Given the description of an element on the screen output the (x, y) to click on. 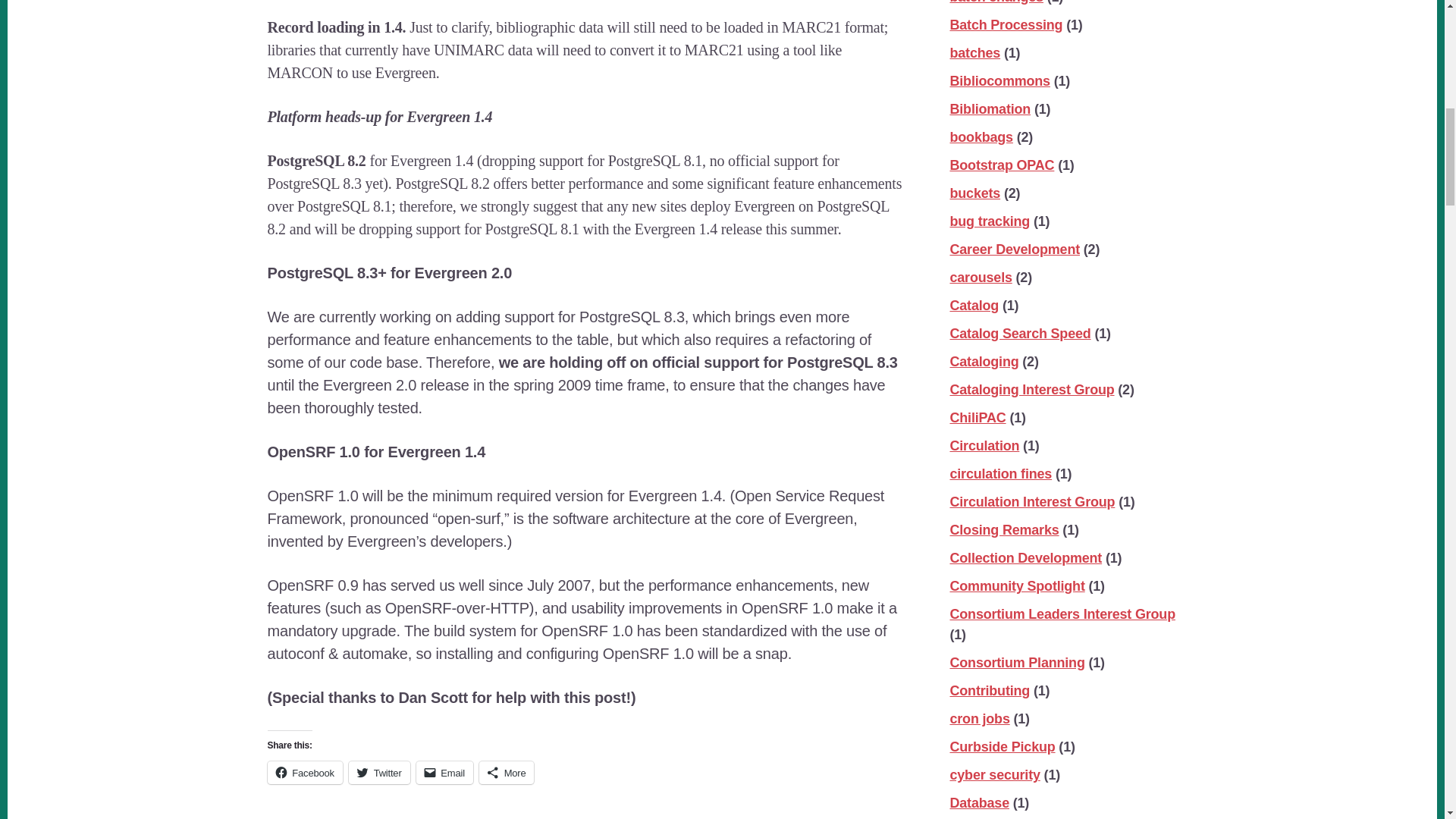
Click to share on Twitter (379, 772)
Click to share on Facebook (304, 772)
Click to email a link to a friend (444, 772)
